Given the description of an element on the screen output the (x, y) to click on. 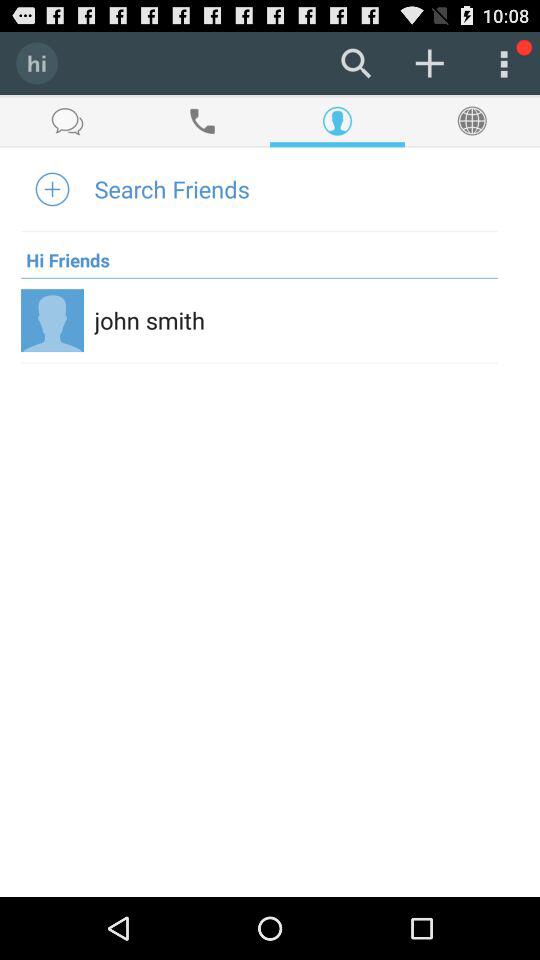
flip to john smith icon (149, 319)
